Given the description of an element on the screen output the (x, y) to click on. 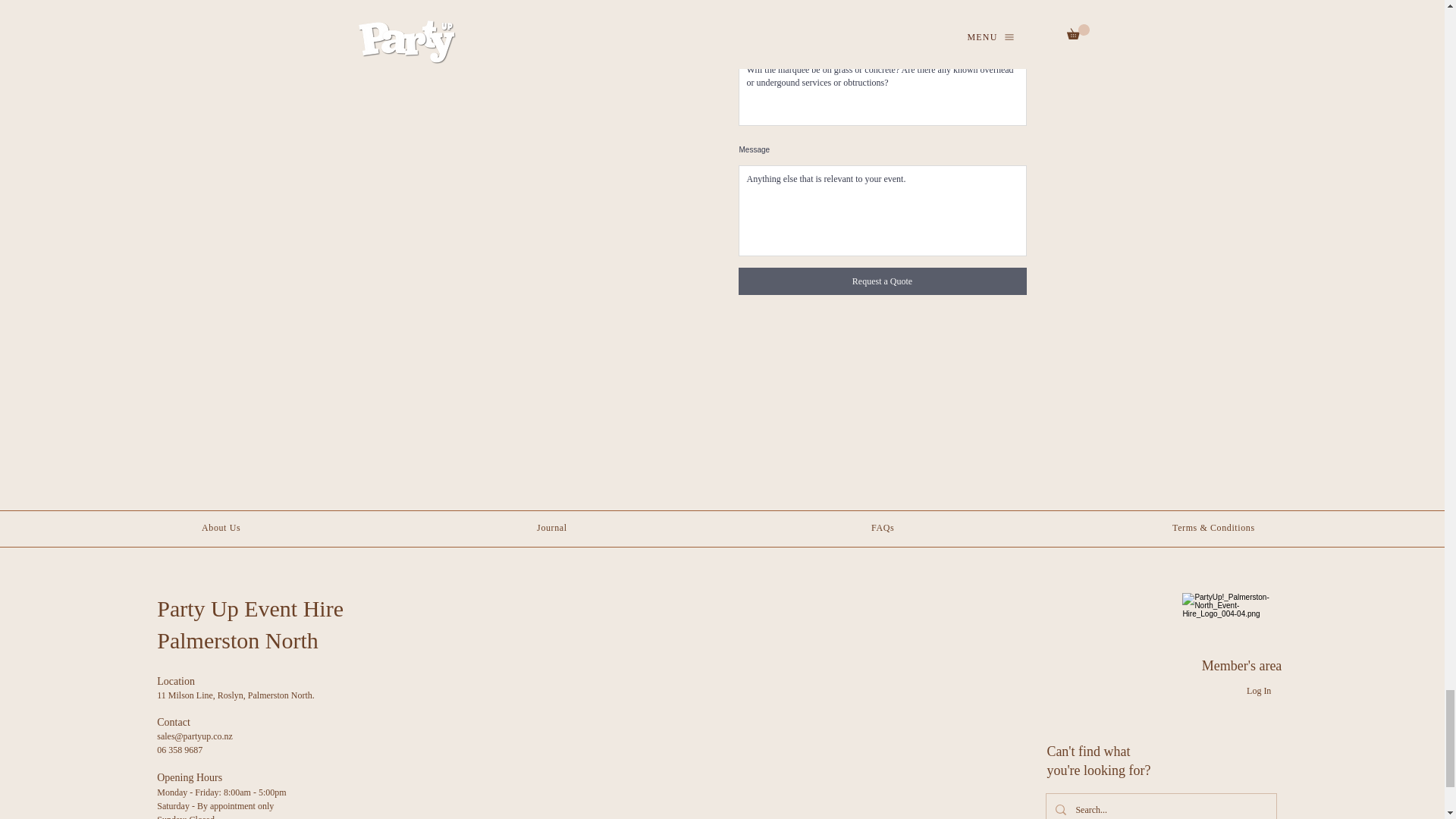
Log In (1258, 690)
FAQs (881, 527)
Journal (552, 527)
Request a Quote (882, 280)
About Us (221, 527)
